Given the description of an element on the screen output the (x, y) to click on. 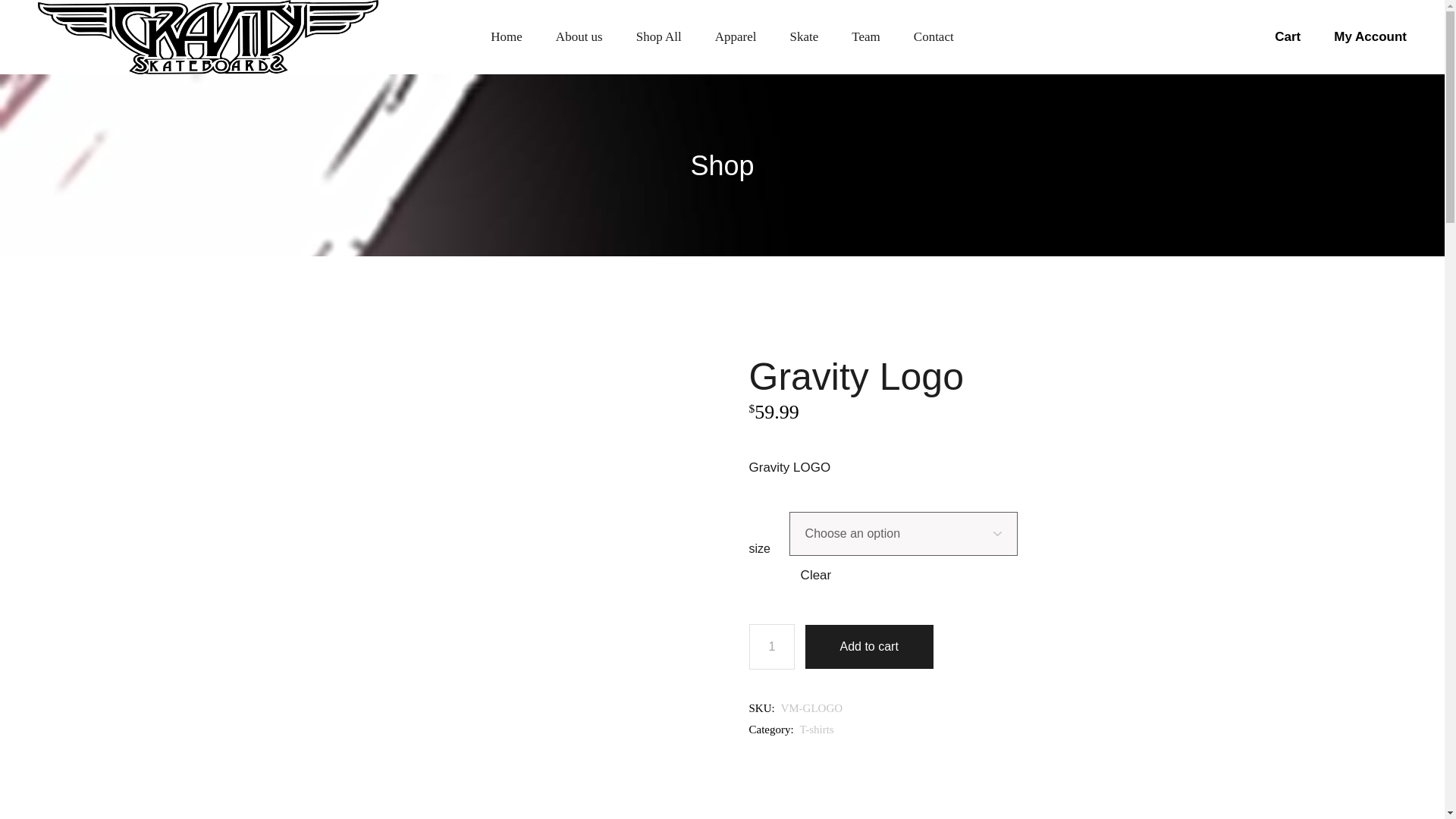
My Account (1369, 36)
1 (771, 646)
Cart (1287, 36)
Qty (771, 646)
